Given the description of an element on the screen output the (x, y) to click on. 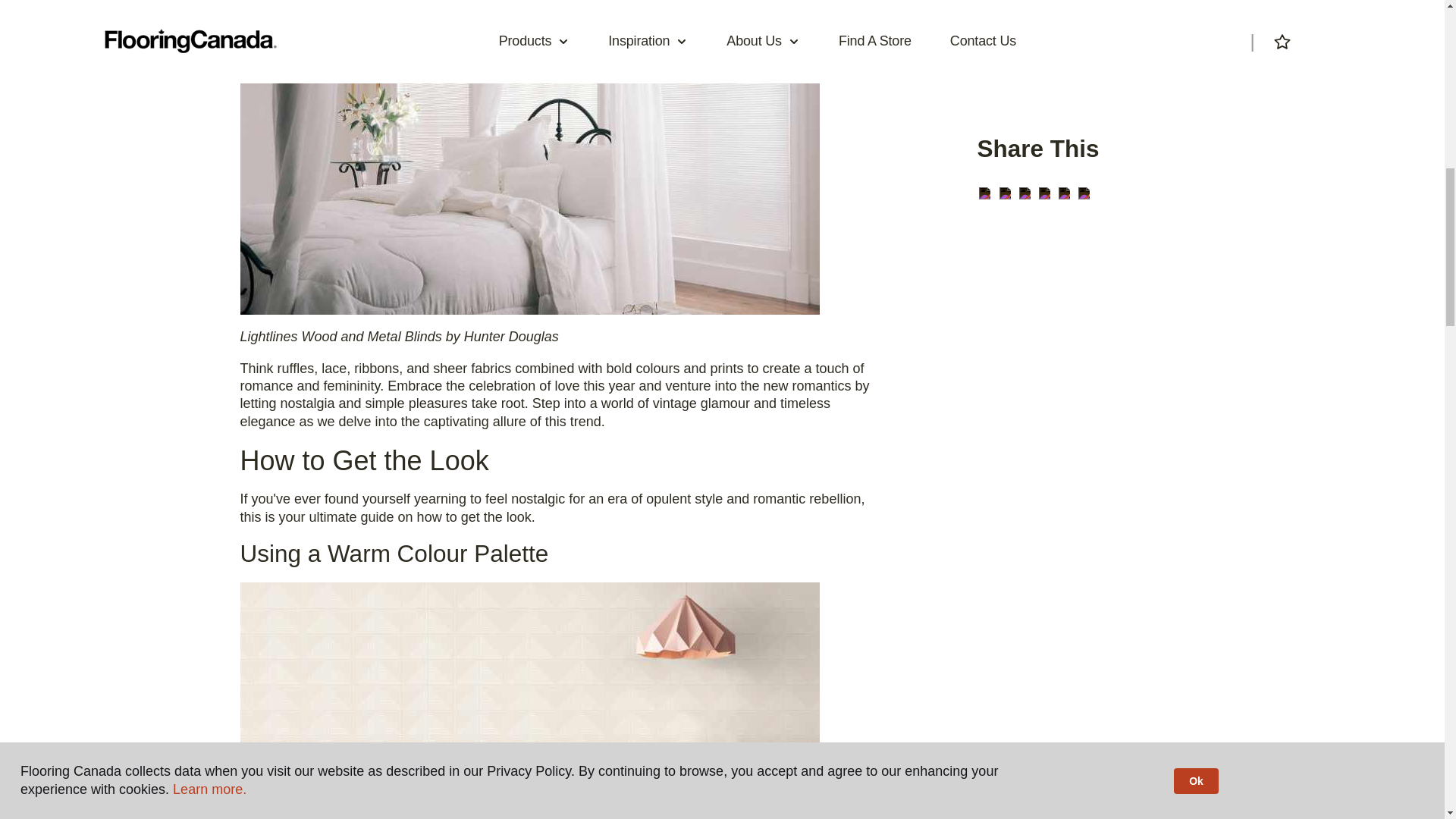
Share on Facebook (1044, 193)
Email Article (984, 193)
Tweet on Twitter (1064, 193)
Pin on Pinterest (1024, 193)
Print Article (1004, 193)
Share on LinkedIn (1083, 193)
